Given the description of an element on the screen output the (x, y) to click on. 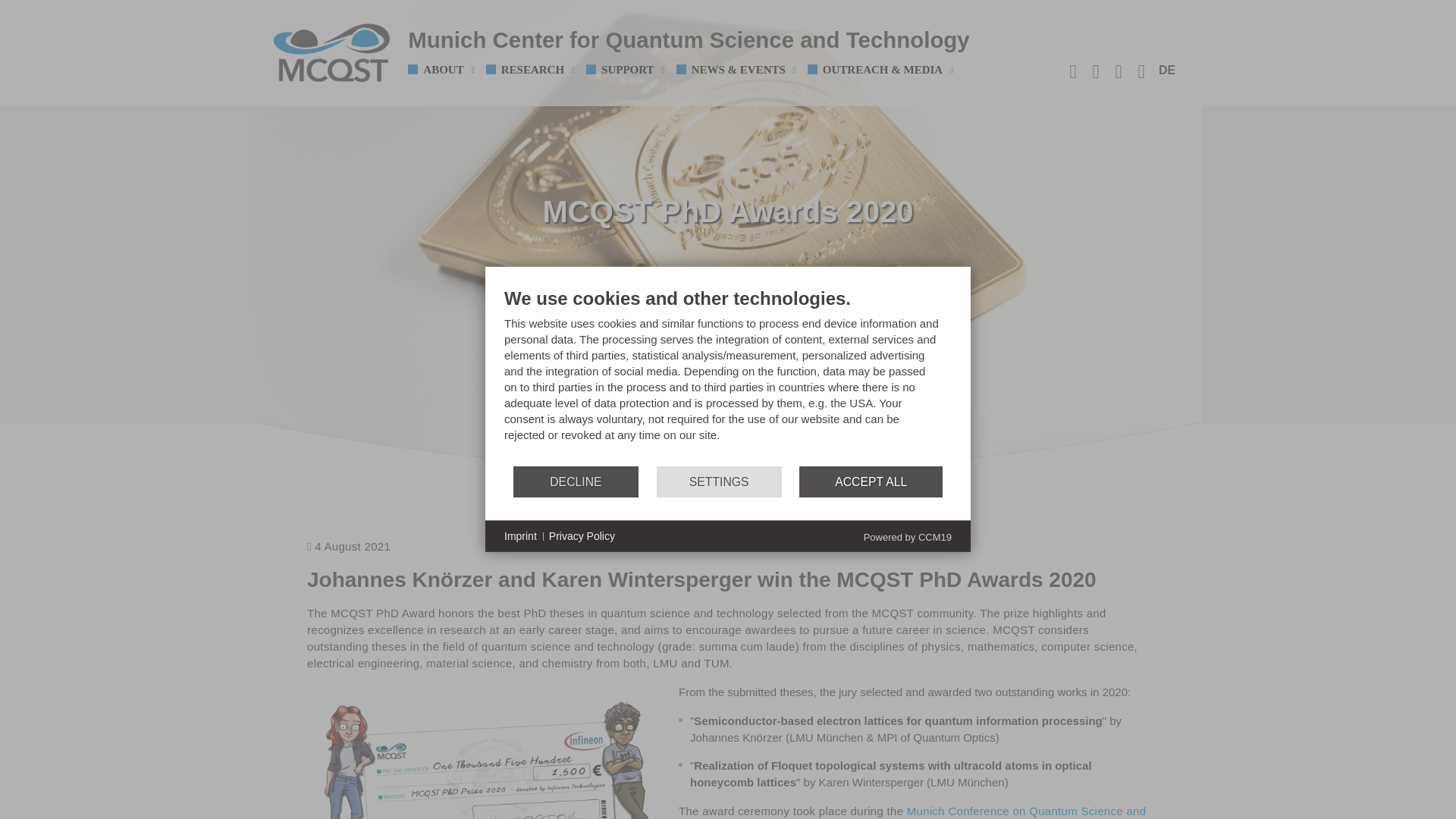
RESEARCH (536, 65)
Munich Conference on Quantum Science and Technology 2021 (911, 811)
ABOUT (445, 65)
SUPPORT (631, 65)
